Given the description of an element on the screen output the (x, y) to click on. 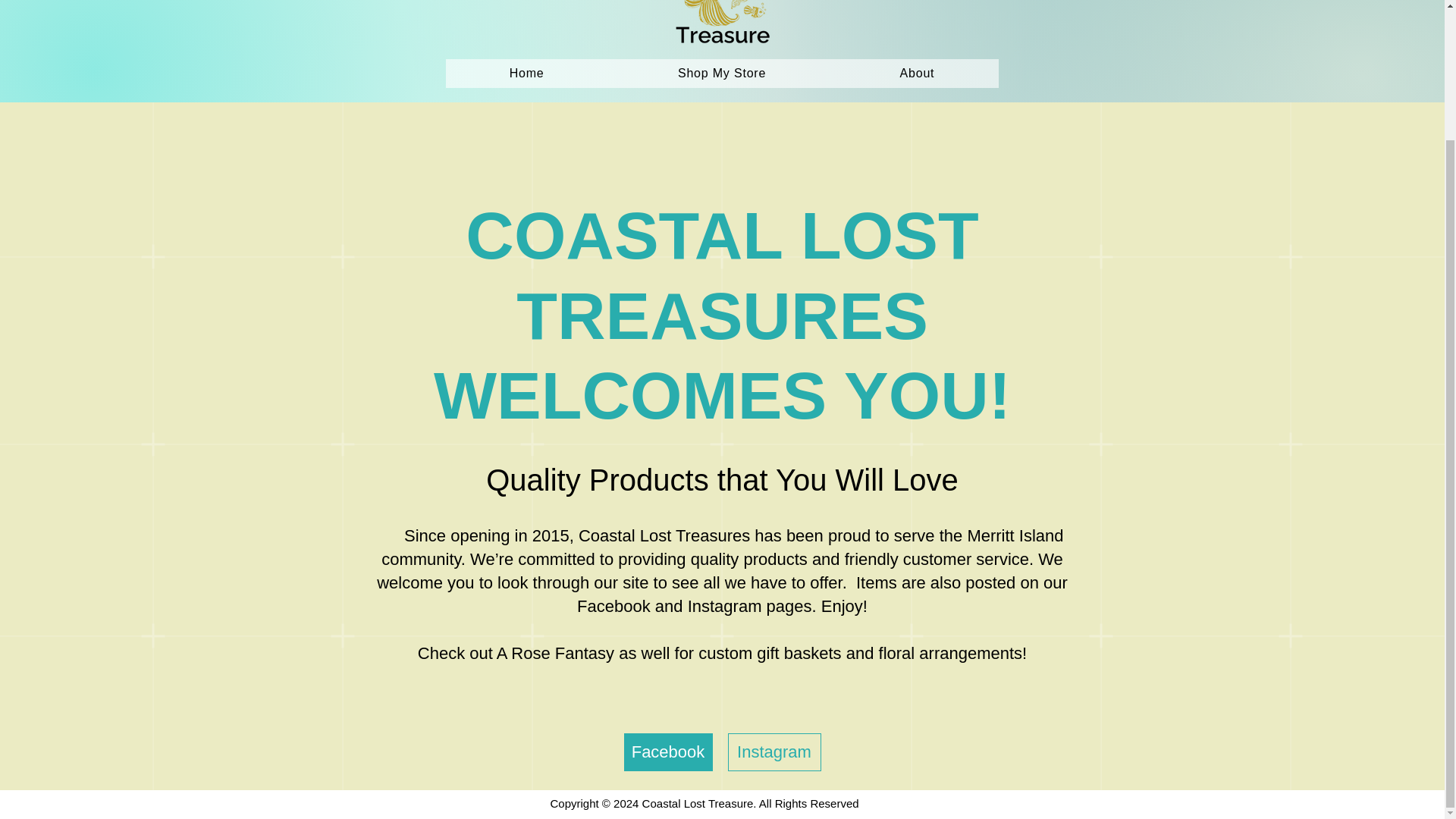
Coastal Lost Treasure.png (722, 29)
Facebook (667, 752)
Shop My Store (721, 72)
Instagram (774, 752)
About (916, 72)
Home (526, 72)
